Given the description of an element on the screen output the (x, y) to click on. 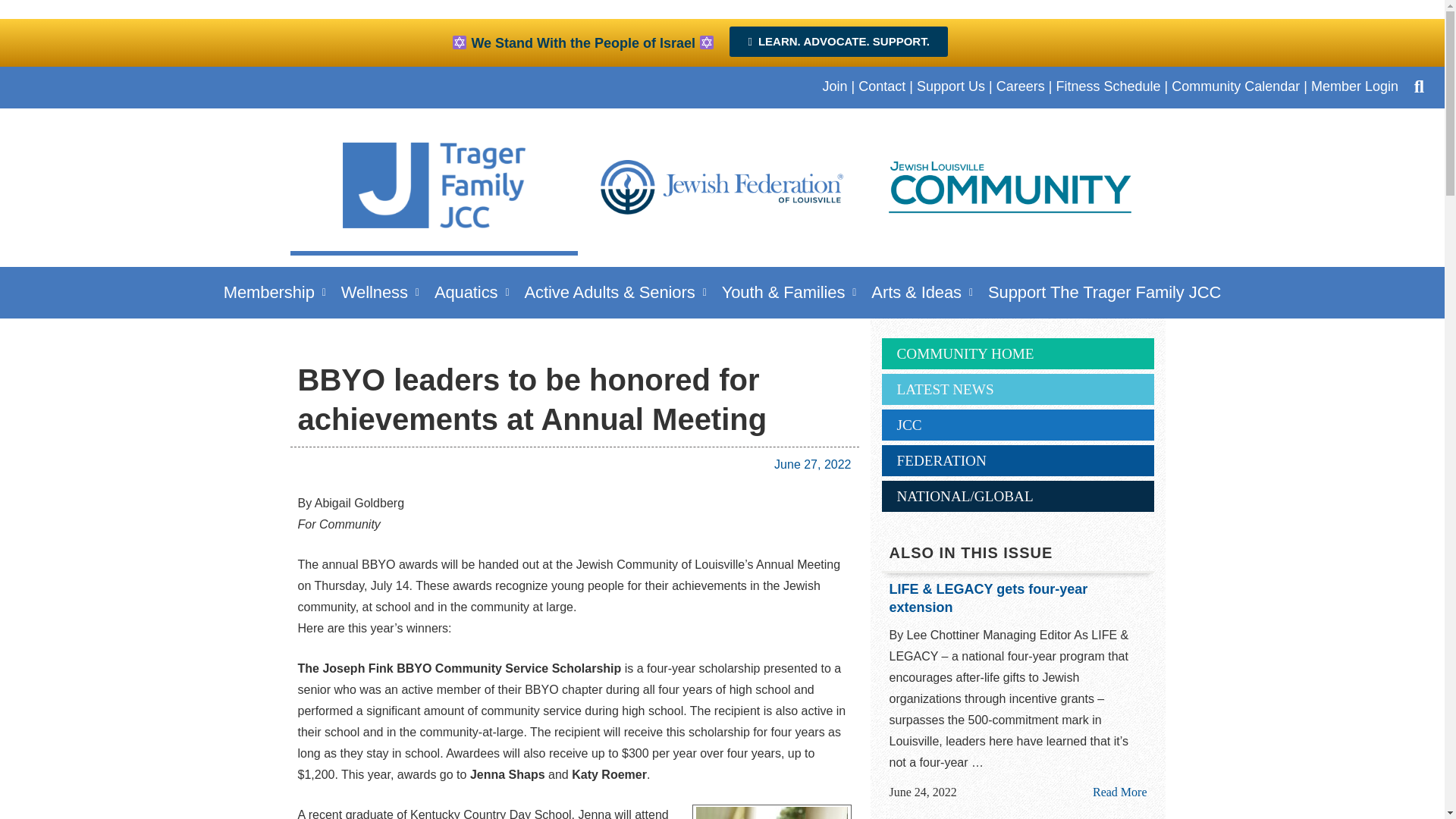
Aquatics (471, 292)
10:45 am (812, 464)
9:53 am (922, 791)
Community Calendar (1236, 86)
Support Us (951, 86)
LEARN. ADVOCATE. SUPPORT. (838, 41)
Membership (274, 292)
Wellness (379, 292)
Member Login (1354, 86)
Fitness Schedule (1107, 86)
Contact (882, 86)
Careers (1020, 86)
Join (834, 86)
